Given the description of an element on the screen output the (x, y) to click on. 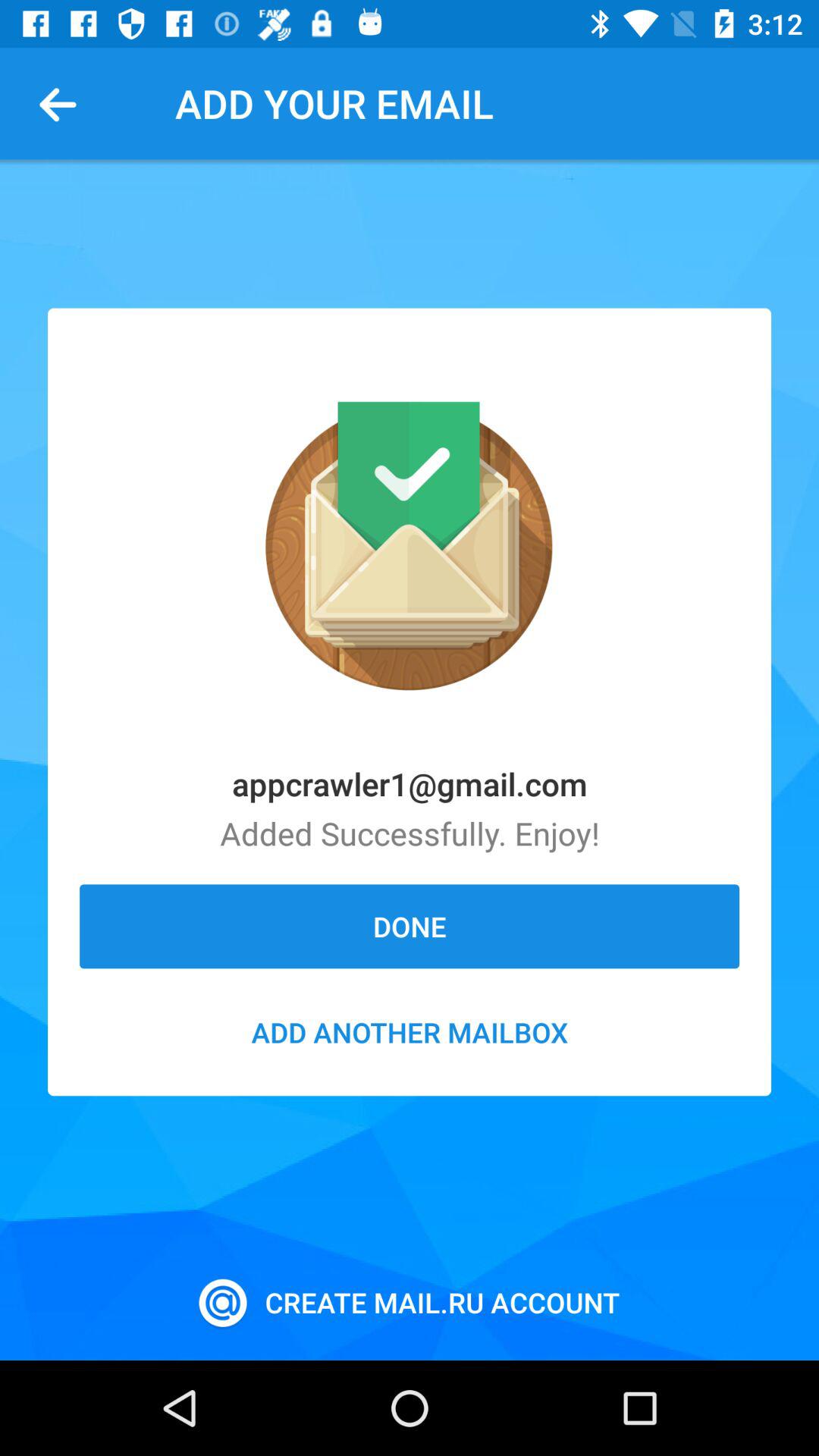
launch the icon above the add another mailbox item (409, 926)
